Given the description of an element on the screen output the (x, y) to click on. 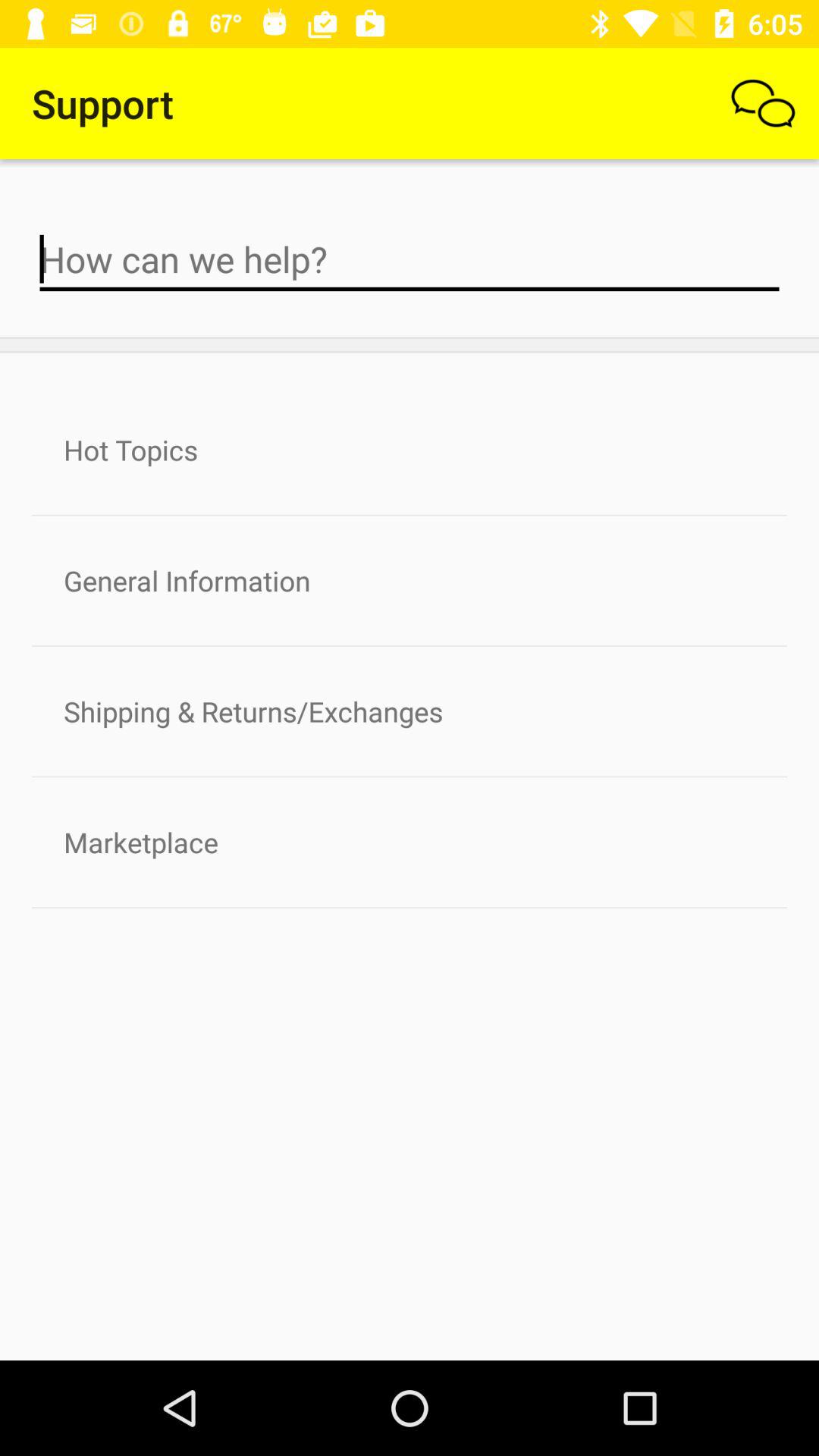
open icon above the shipping & returns/exchanges icon (409, 580)
